Given the description of an element on the screen output the (x, y) to click on. 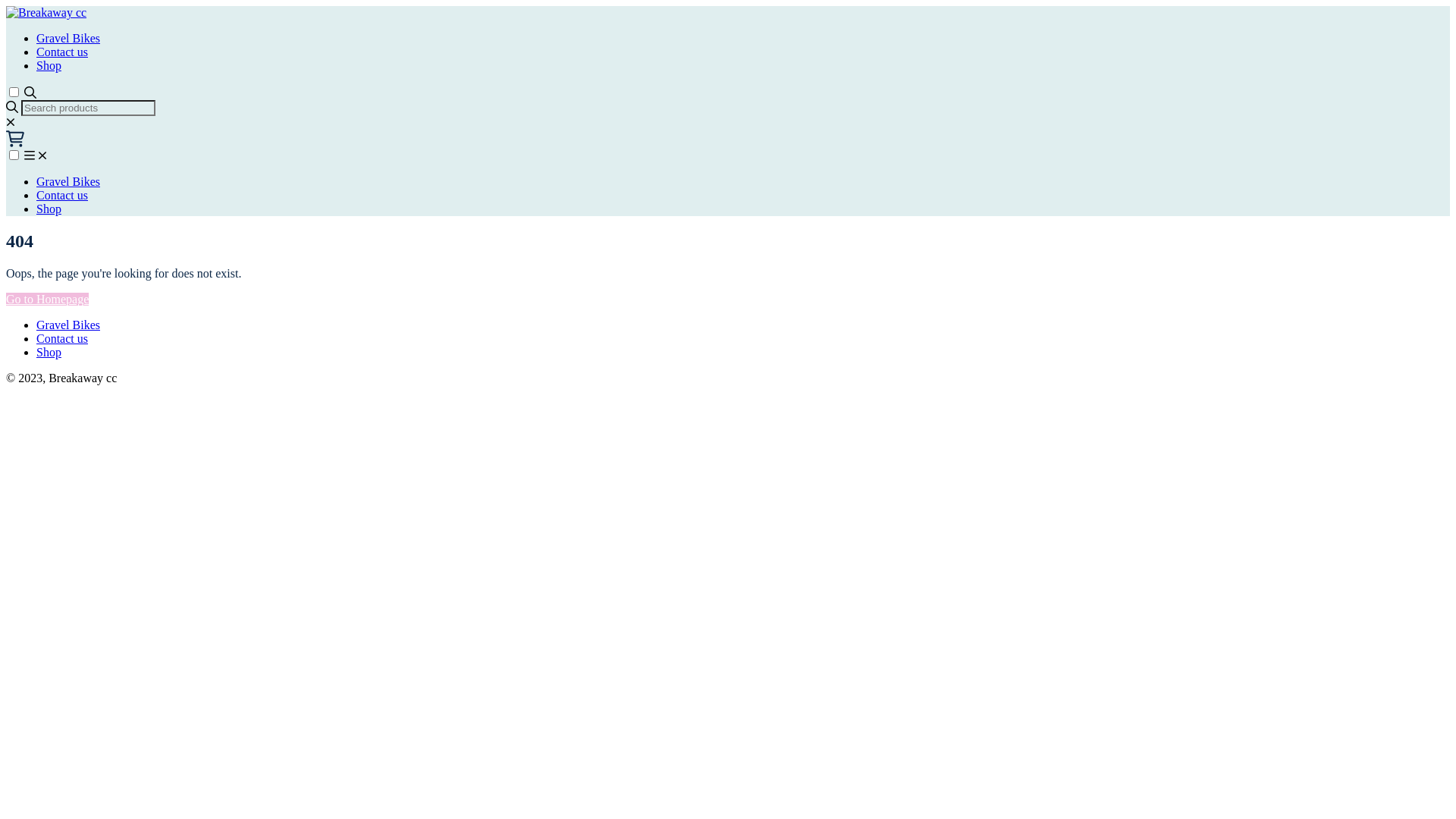
Gravel Bikes Element type: text (68, 37)
Contact us Element type: text (61, 51)
Shop Element type: text (48, 208)
Contact us Element type: text (61, 194)
Shop Element type: text (48, 65)
Contact us Element type: text (61, 338)
Shop Element type: text (48, 351)
Gravel Bikes Element type: text (68, 181)
Gravel Bikes Element type: text (68, 324)
Go to Homepage Element type: text (47, 298)
